Given the description of an element on the screen output the (x, y) to click on. 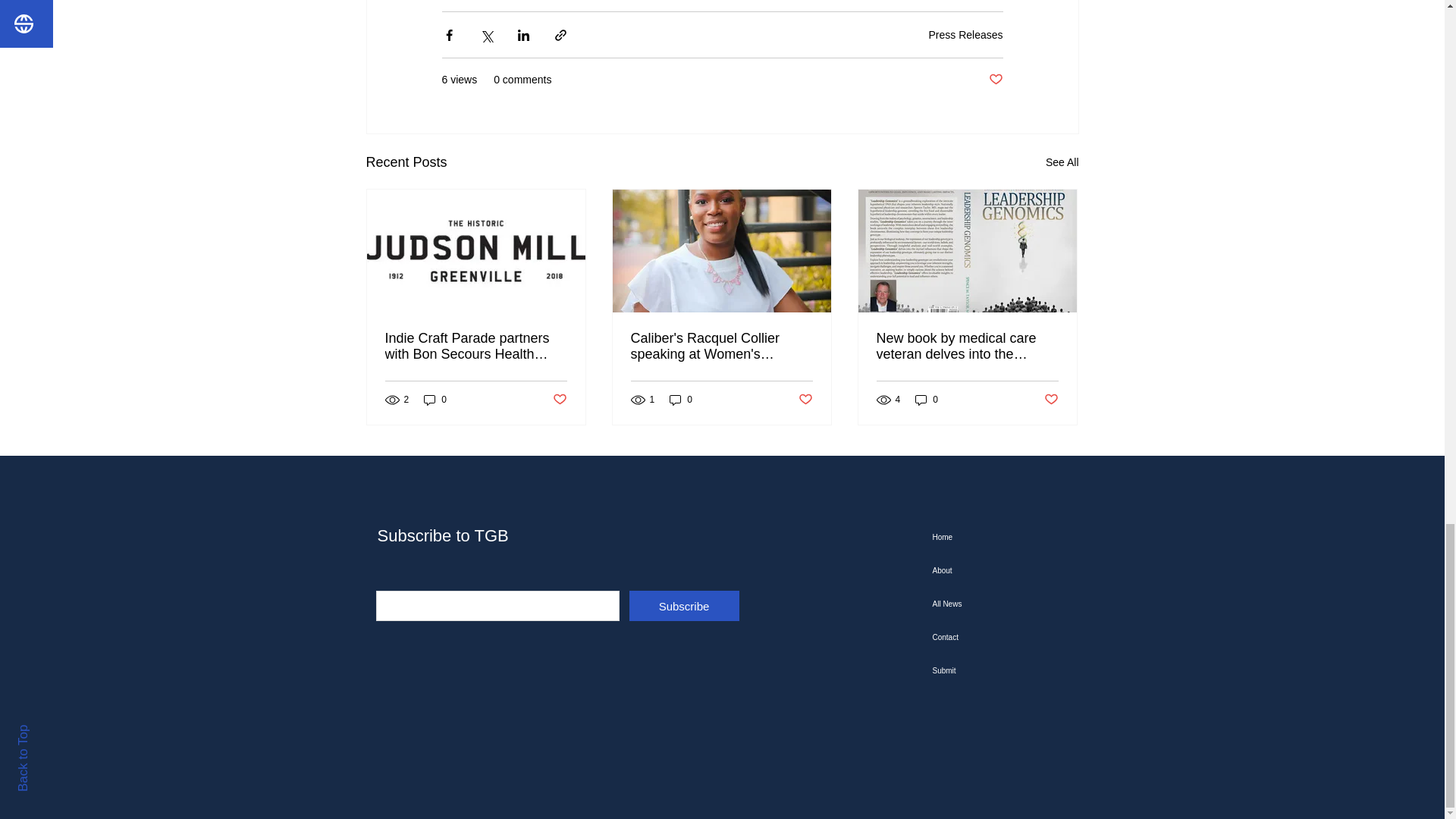
0 (435, 399)
Press Releases (965, 33)
Post not marked as liked (558, 399)
See All (1061, 162)
Post not marked as liked (995, 79)
